Given the description of an element on the screen output the (x, y) to click on. 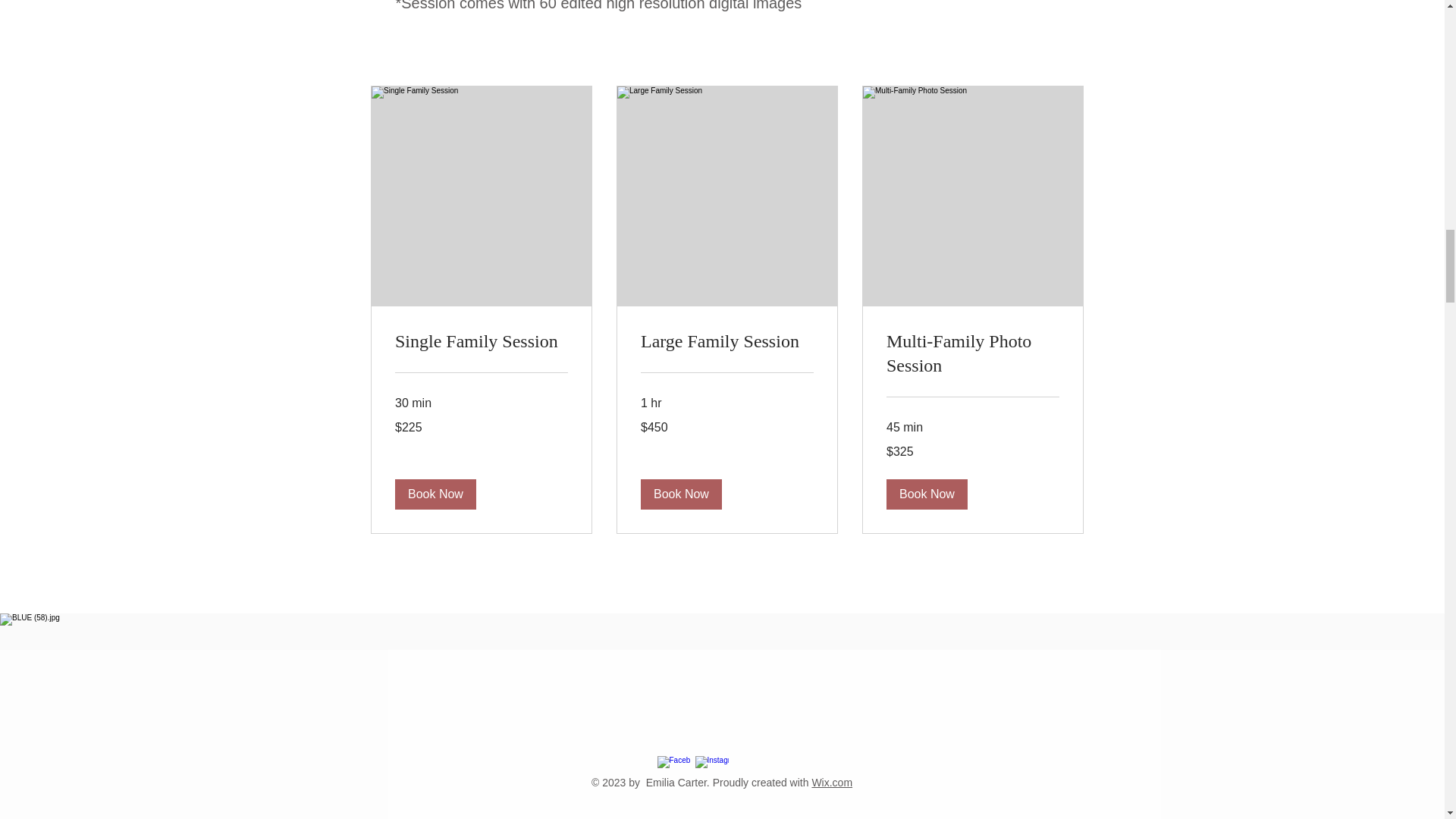
Book Now (680, 493)
Single Family Session (480, 341)
Large Family Session (726, 341)
Multi-Family Photo Session (971, 354)
Book Now (435, 493)
Book Now (925, 493)
